Given the description of an element on the screen output the (x, y) to click on. 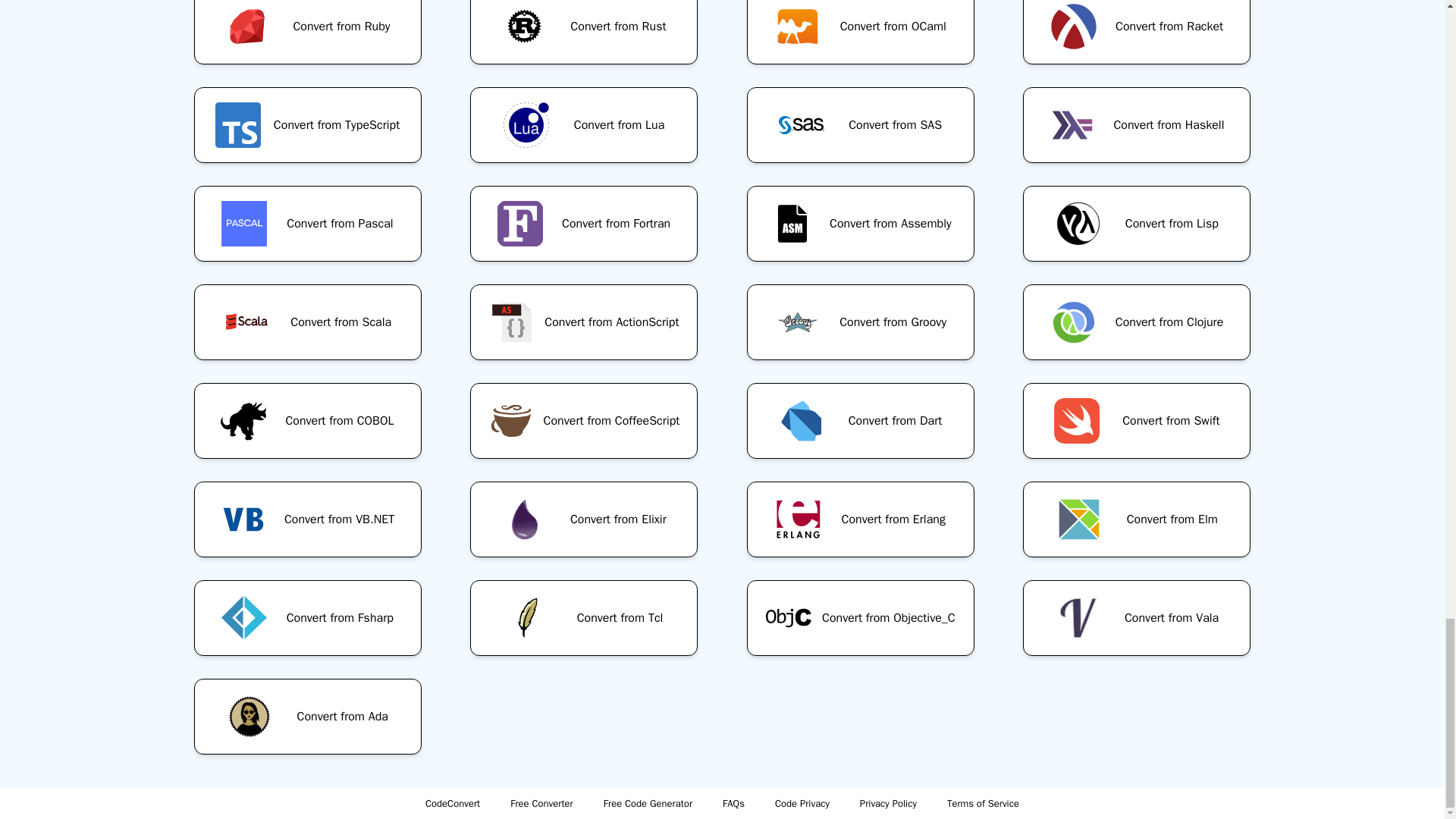
Convert from Groovy (860, 321)
Convert from ActionScript (583, 321)
Convert from SAS (860, 125)
Convert from Clojure (1136, 321)
Convert from Assembly (860, 223)
Convert from Rust (583, 38)
Convert from COBOL (307, 420)
Convert from TypeScript (307, 125)
Convert from Fortran (583, 223)
Convert from Racket (1136, 38)
Convert from Scala (307, 321)
Convert from Haskell (1136, 125)
Convert from Lisp (1136, 223)
Convert from Lua (583, 125)
Convert from Ruby (307, 38)
